Given the description of an element on the screen output the (x, y) to click on. 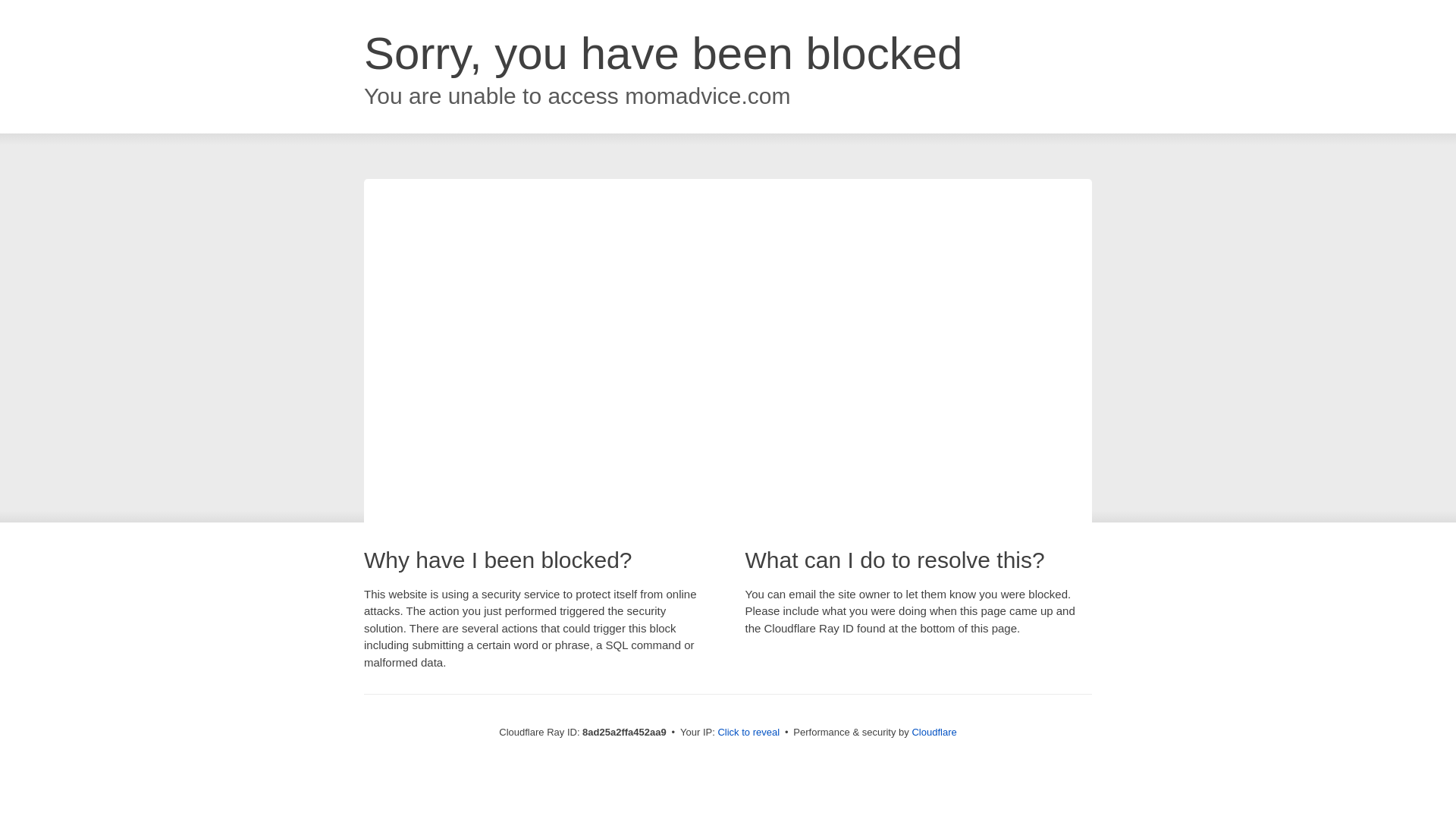
Cloudflare (933, 731)
Click to reveal (747, 732)
